Given the description of an element on the screen output the (x, y) to click on. 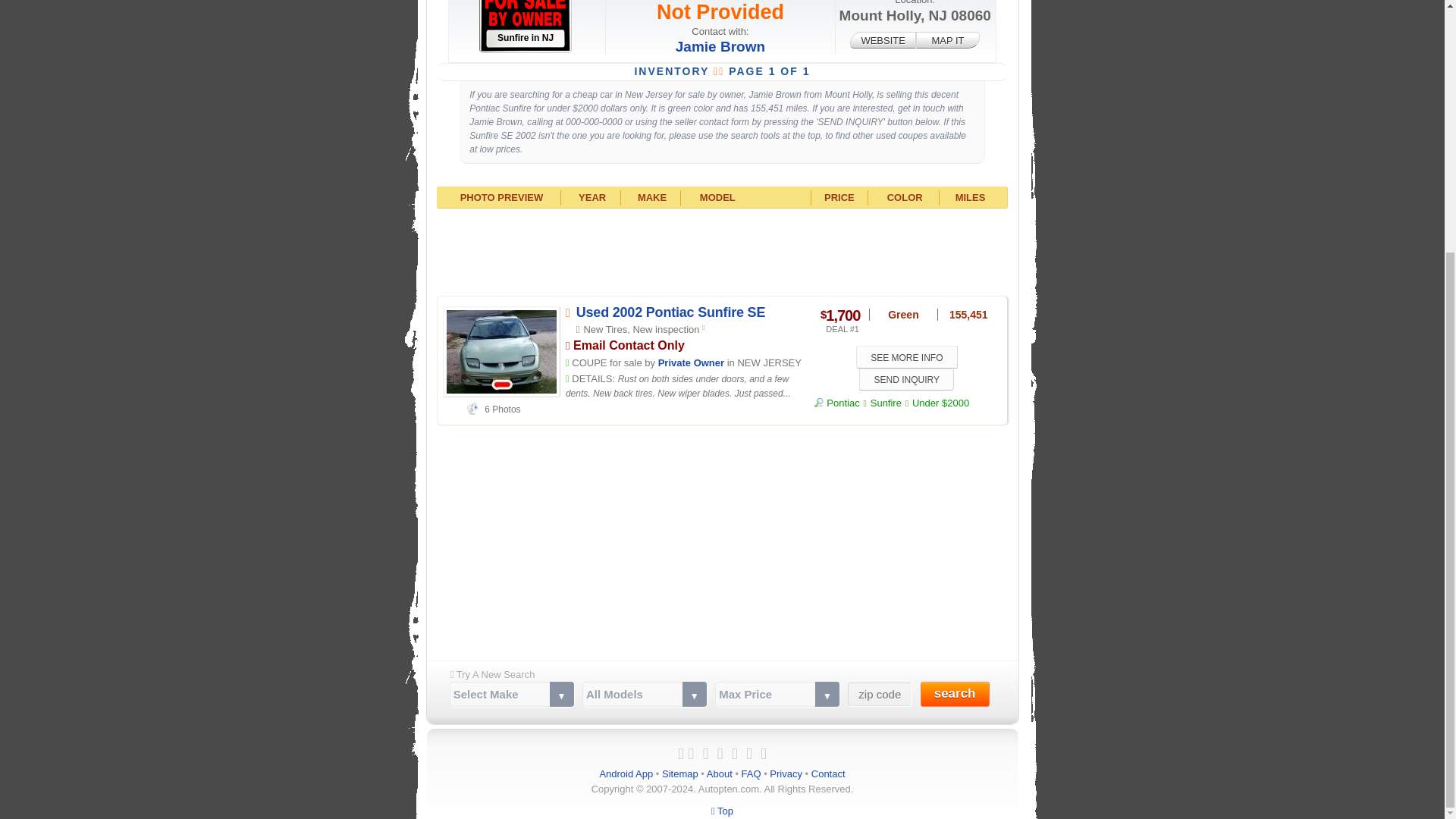
Used 2002 Pontiac Sunfire SE (670, 312)
Advertisement (721, 250)
WEBSITE (882, 39)
SEE MORE INFO (907, 356)
Private Owner (690, 362)
Sunfire (885, 402)
SEND INQUIRY (906, 379)
This link is disabled (882, 39)
Seller info (690, 362)
Browse all used Pontiac Sunfire available (885, 402)
